Given the description of an element on the screen output the (x, y) to click on. 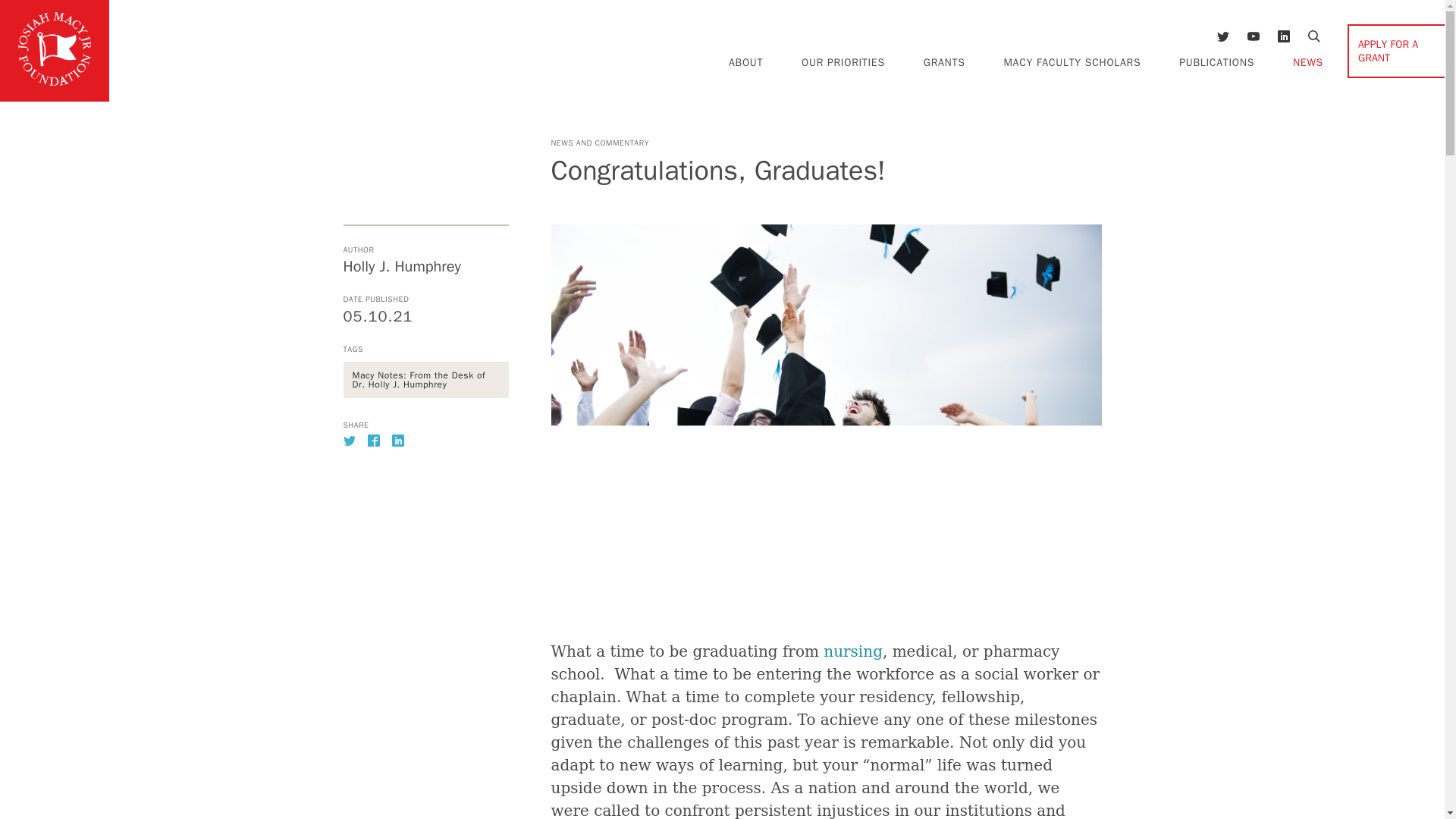
NEWS (1308, 62)
OUR PRIORITIES (842, 62)
Congratulations, Graduates! (425, 436)
